Given the description of an element on the screen output the (x, y) to click on. 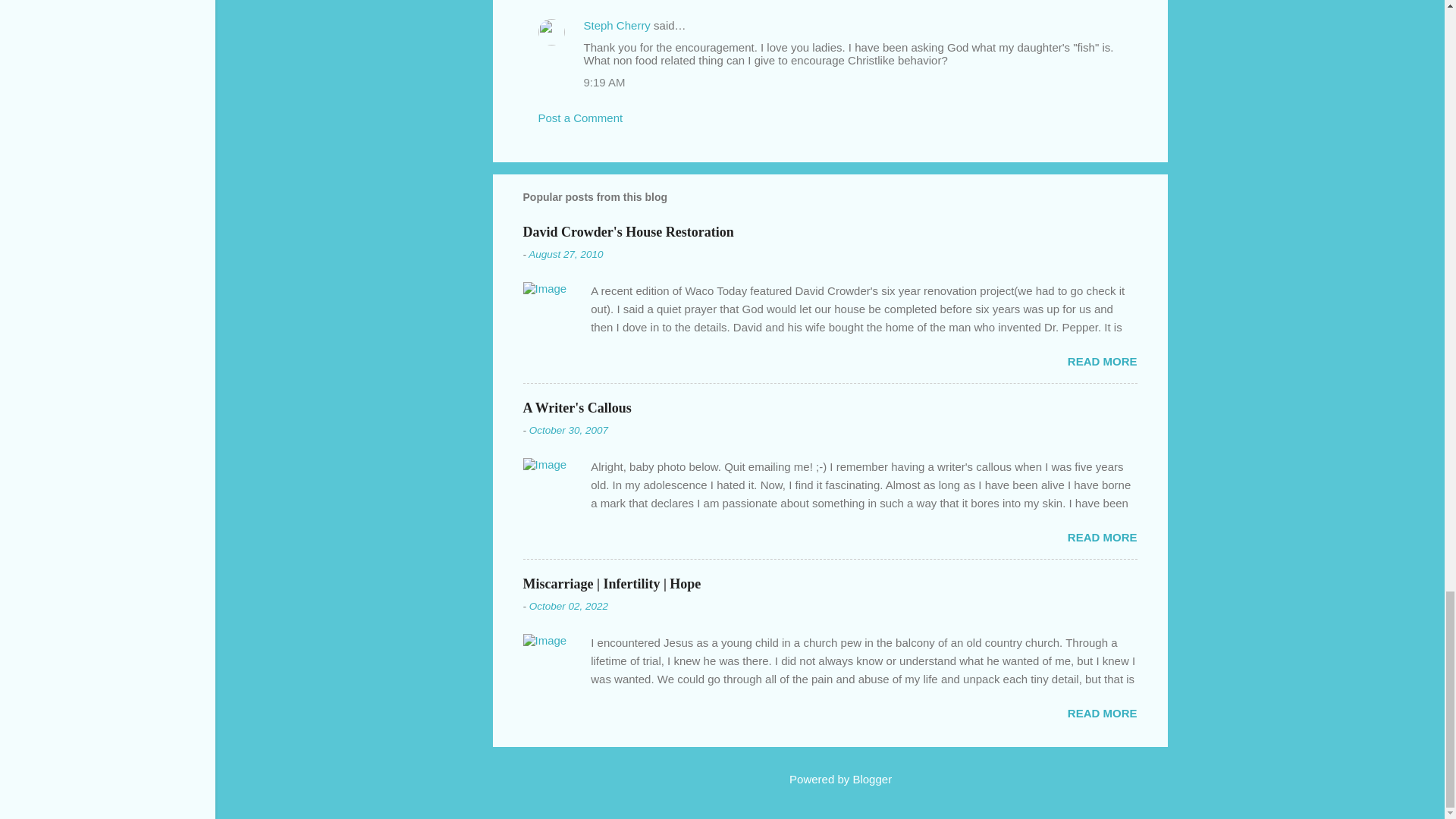
A Writer's Callous (576, 407)
Steph Cherry (616, 24)
READ MORE (1102, 360)
9:19 AM (604, 82)
August 27, 2010 (565, 254)
David Crowder's House Restoration (627, 231)
Post a Comment (580, 117)
October 30, 2007 (568, 430)
